Given the description of an element on the screen output the (x, y) to click on. 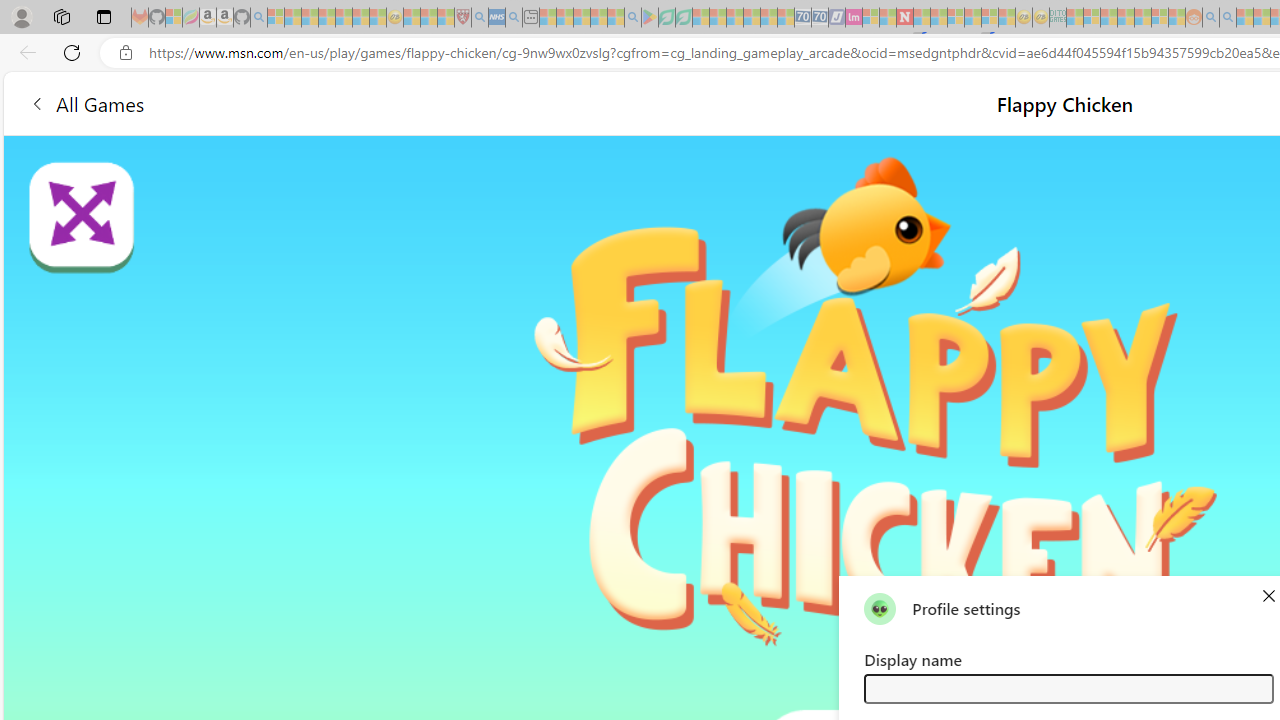
Bluey: Let's Play! - Apps on Google Play - Sleeping (649, 17)
""'s avatar (880, 608)
Expert Portfolios - Sleeping (1125, 17)
Terms of Use Agreement - Sleeping (666, 17)
utah sues federal government - Search - Sleeping (513, 17)
